Given the description of an element on the screen output the (x, y) to click on. 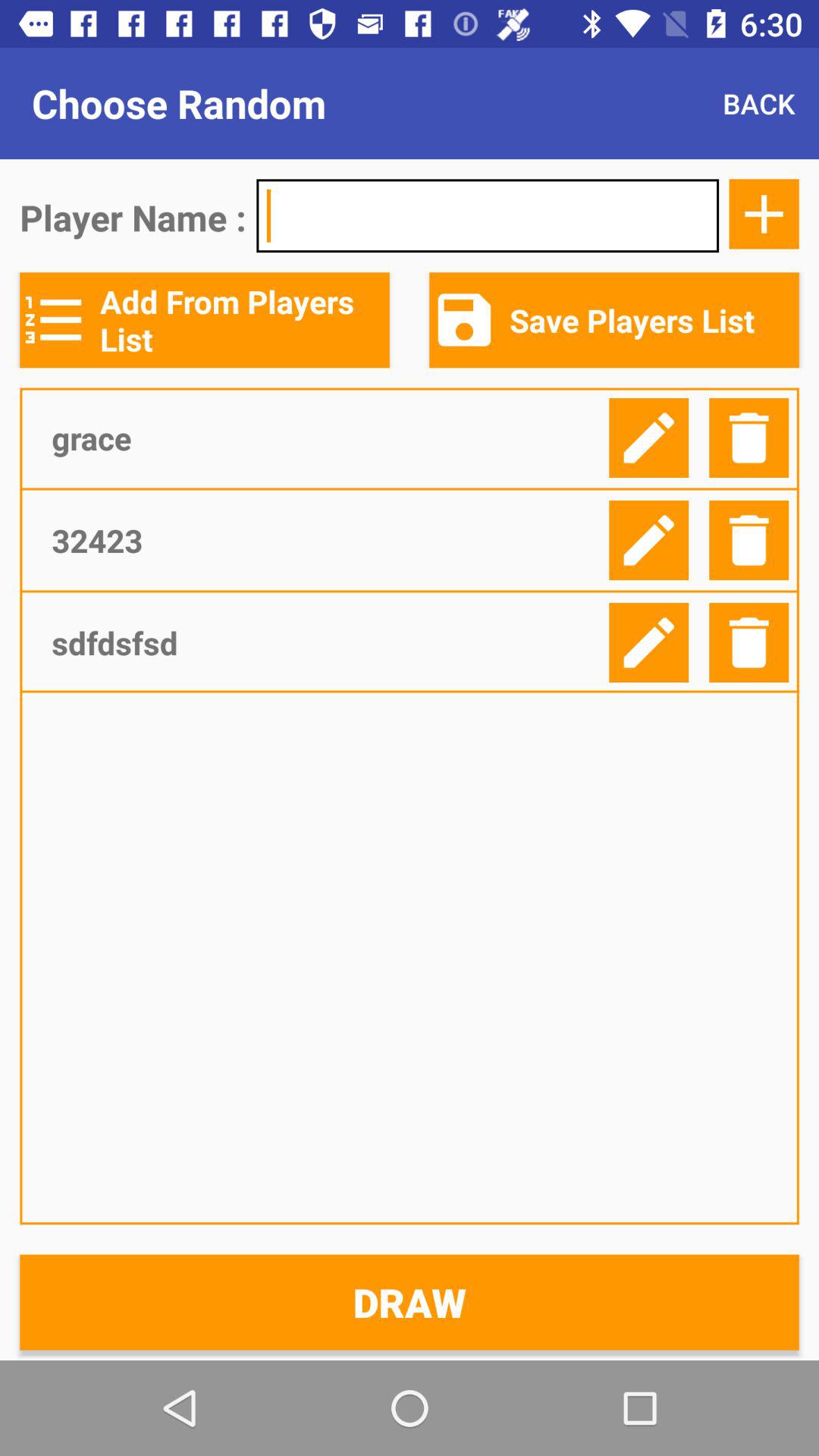
open the item below the back icon (764, 214)
